Given the description of an element on the screen output the (x, y) to click on. 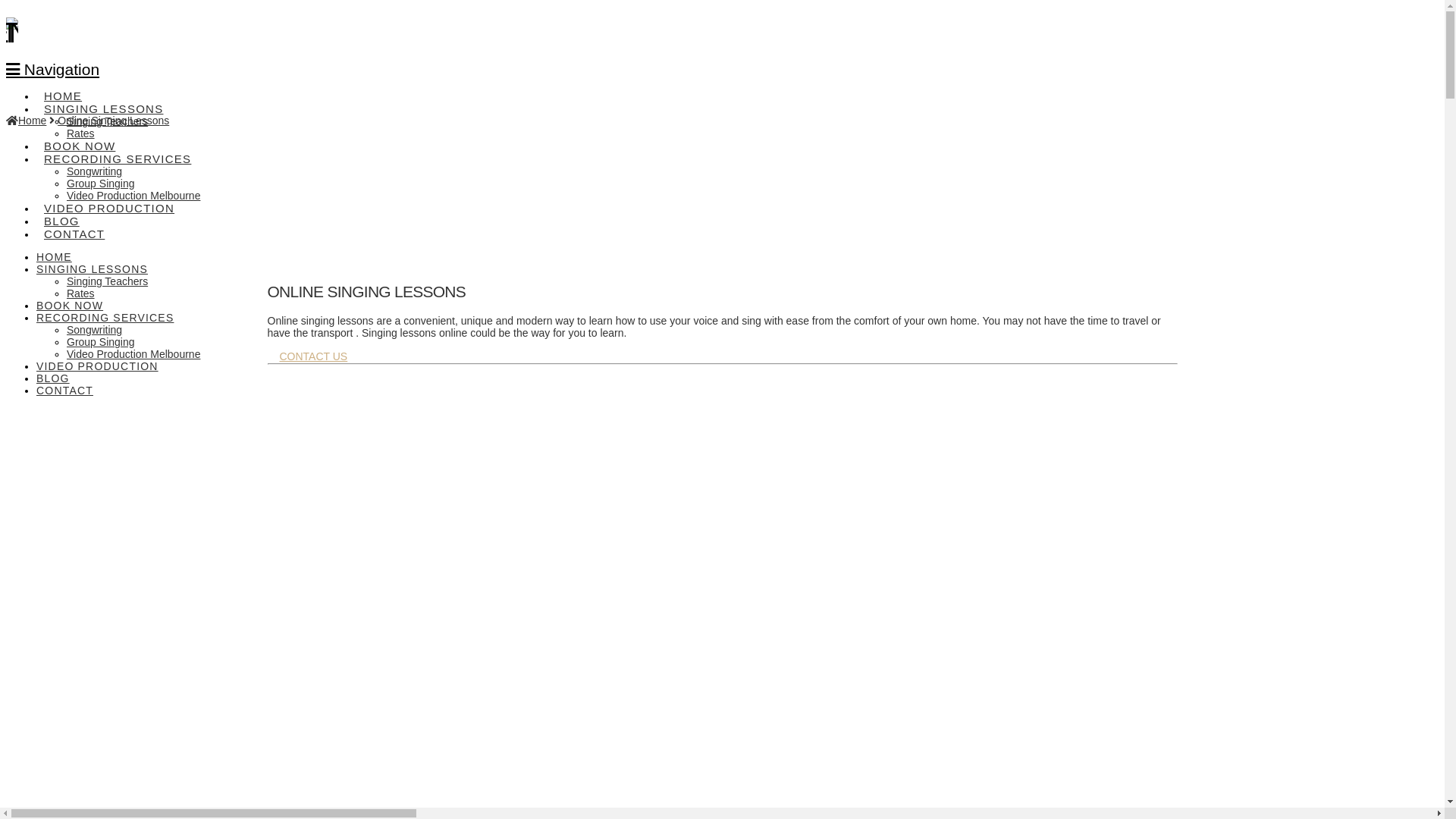
Rates Element type: text (80, 133)
HOME Element type: text (54, 257)
Group Singing Element type: text (100, 183)
RECORDING SERVICES Element type: text (116, 148)
Songwriting Element type: text (94, 329)
SINGING LESSONS Element type: text (91, 269)
Rates Element type: text (80, 293)
VIDEO PRODUCTION Element type: text (108, 198)
HOME Element type: text (62, 85)
CONTACT Element type: text (73, 223)
Navigation Element type: text (52, 69)
VIDEO PRODUCTION Element type: text (97, 366)
BOOK NOW Element type: text (79, 135)
BLOG Element type: text (52, 378)
SINGING LESSONS Element type: text (102, 98)
Singing Teachers Element type: text (106, 121)
Songwriting Element type: text (94, 171)
CONTACT US Element type: text (312, 357)
Group Singing Element type: text (100, 341)
Singing Teachers Element type: text (106, 281)
Video Production Melbourne Element type: text (133, 354)
RECORDING SERVICES Element type: text (104, 317)
Home Element type: text (26, 120)
Video Production Melbourne Element type: text (133, 195)
BOOK NOW Element type: text (69, 305)
Online Singing Lessons Element type: text (113, 120)
BLOG Element type: text (61, 210)
CONTACT Element type: text (64, 390)
